Given the description of an element on the screen output the (x, y) to click on. 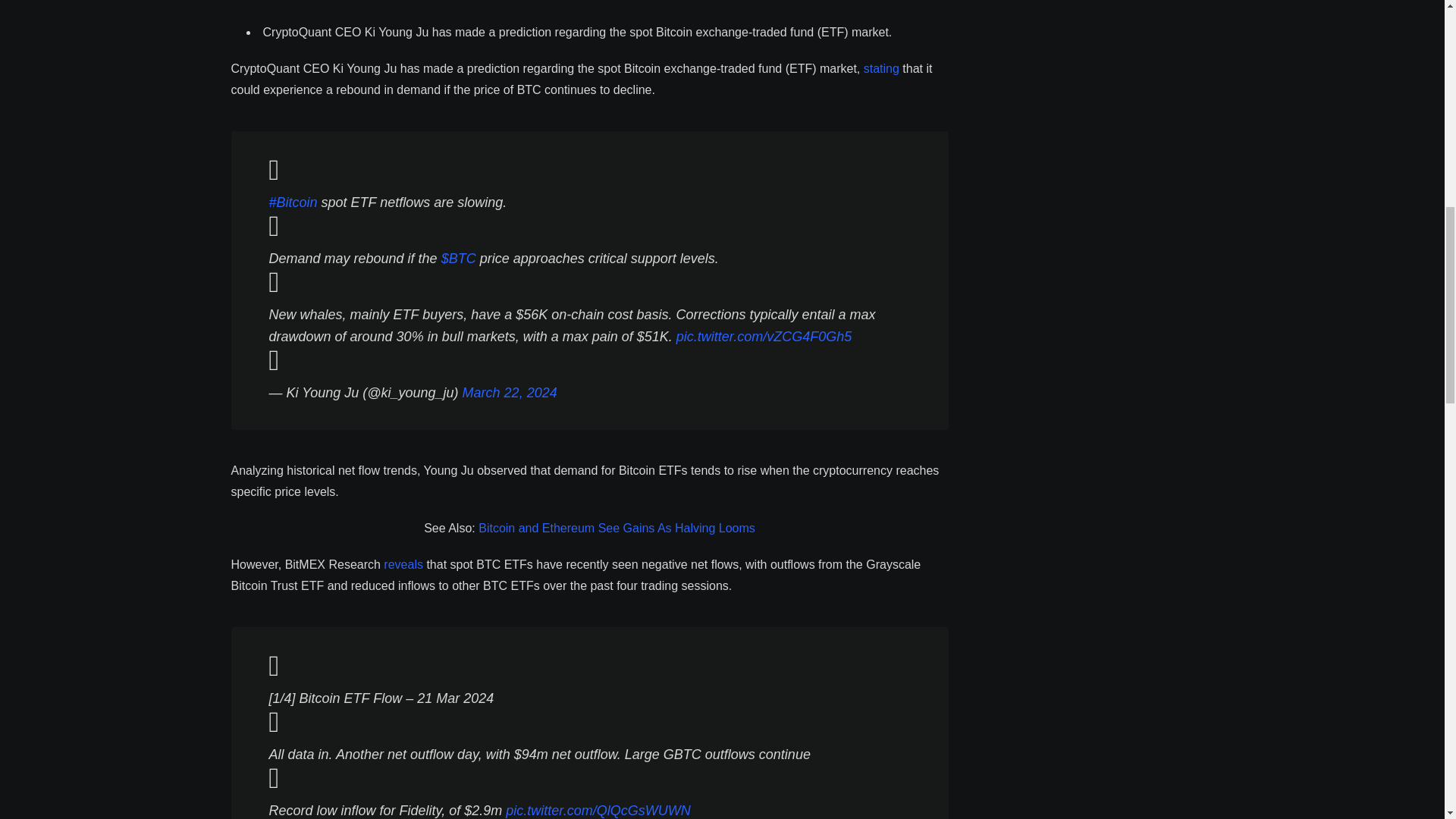
stating (881, 68)
March 22, 2024 (510, 392)
